Given the description of an element on the screen output the (x, y) to click on. 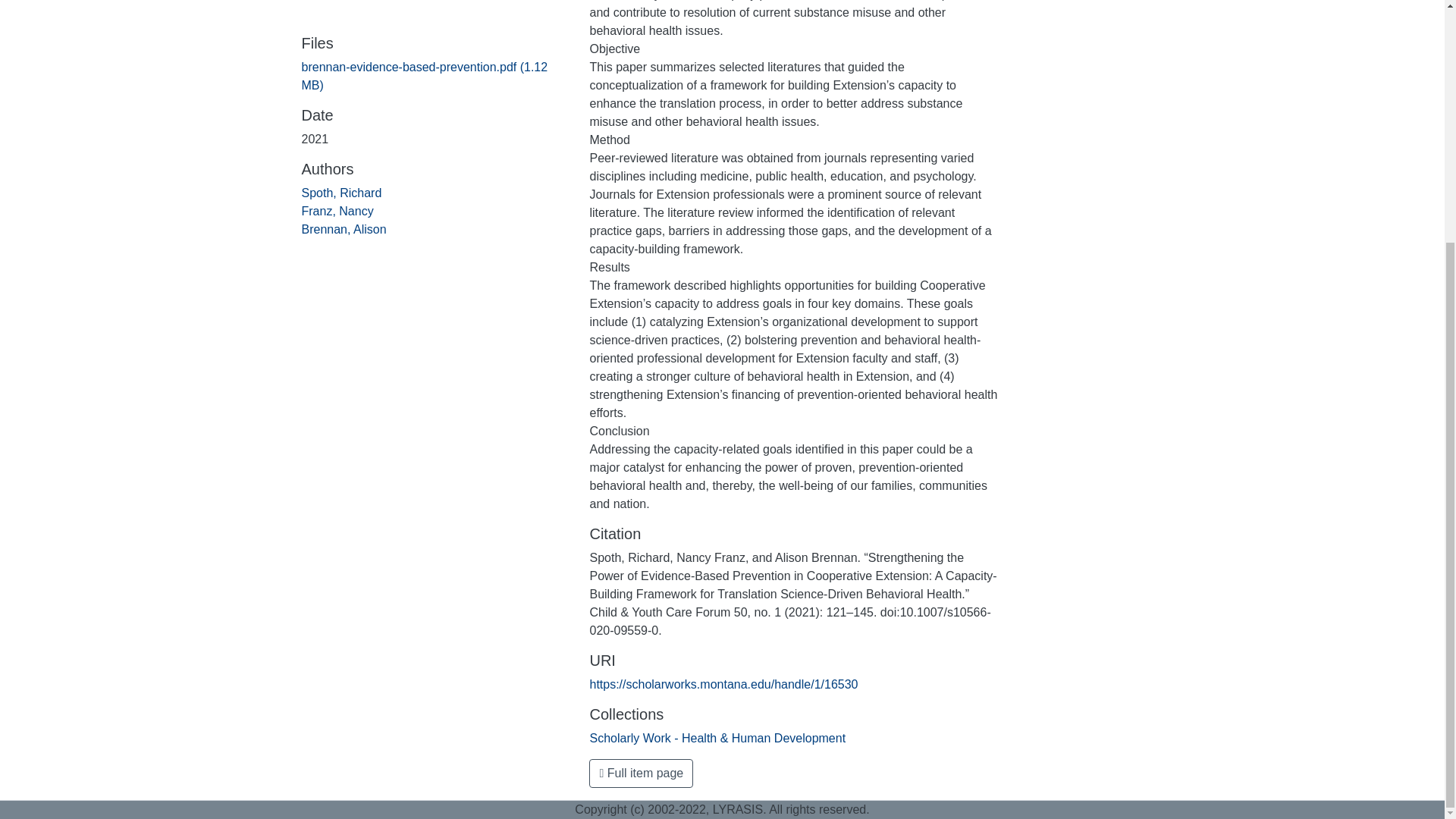
Full item page (641, 773)
Franz, Nancy (337, 210)
Brennan, Alison (344, 228)
Spoth, Richard (341, 192)
